Given the description of an element on the screen output the (x, y) to click on. 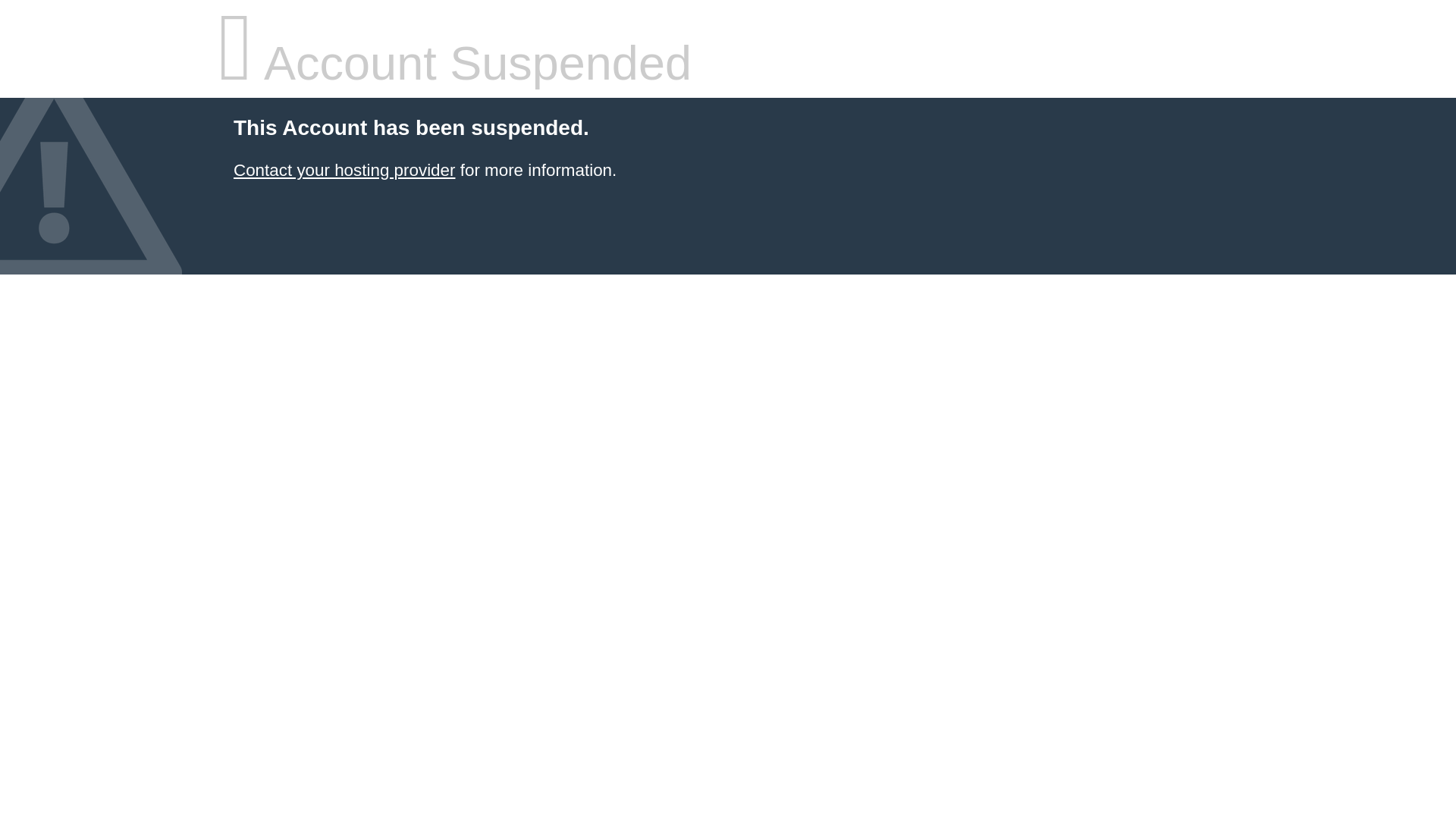
Contact your hosting provider (343, 169)
